Given the description of an element on the screen output the (x, y) to click on. 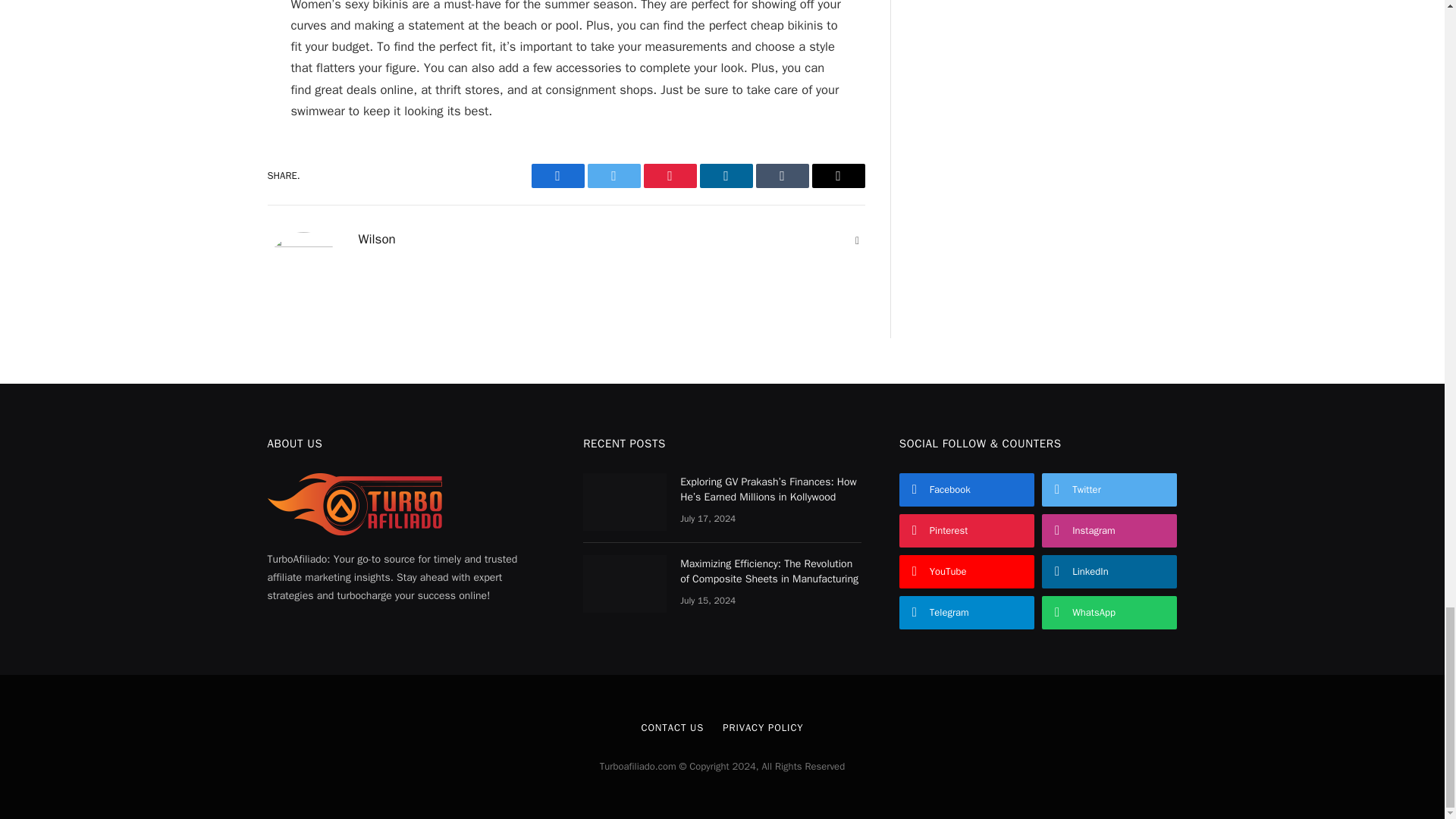
Facebook (557, 175)
Twitter (613, 175)
Pinterest (669, 175)
